Given the description of an element on the screen output the (x, y) to click on. 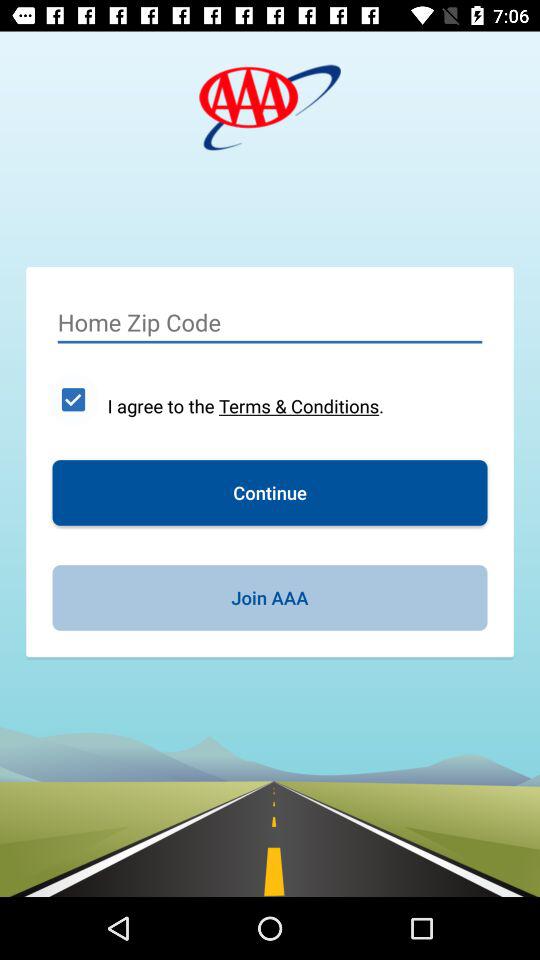
click the item above the continue icon (73, 399)
